Given the description of an element on the screen output the (x, y) to click on. 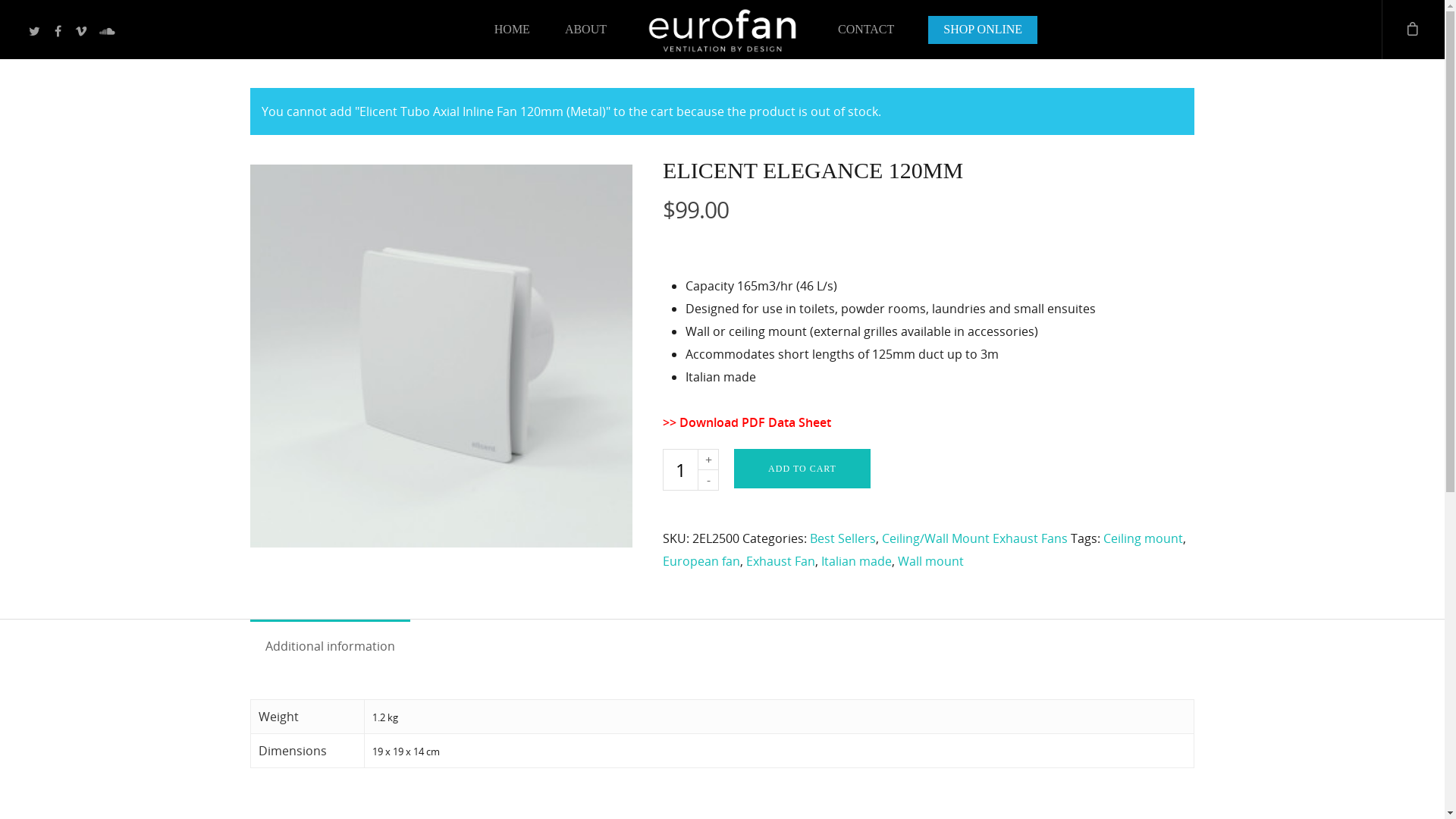
Ceiling mount Element type: text (1143, 538)
ADD TO CART Element type: text (802, 468)
ABOUT Element type: text (585, 33)
Italian made Element type: text (856, 560)
HOME Element type: text (512, 33)
Ceiling/Wall Mount Exhaust Fans Element type: text (974, 538)
Best Sellers Element type: text (842, 538)
SHOP ONLINE Element type: text (982, 33)
CONTACT Element type: text (865, 33)
Qty Element type: hover (679, 469)
Exhaust Fan Element type: text (780, 560)
>> Download PDF Data Sheet Element type: text (746, 422)
Additional information Element type: text (330, 645)
Wall mount Element type: text (930, 560)
European fan Element type: text (701, 560)
